Given the description of an element on the screen output the (x, y) to click on. 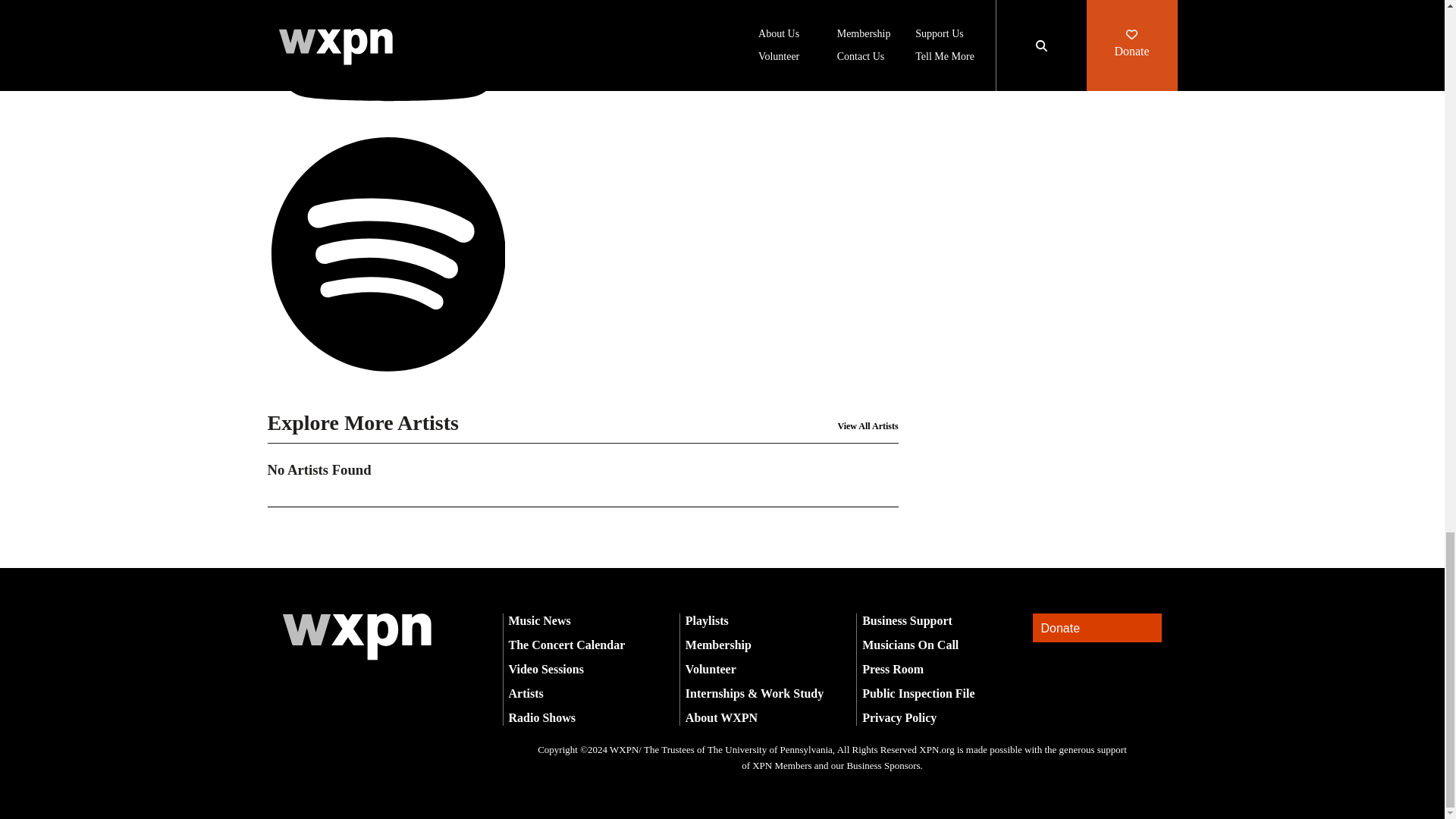
Membership (718, 644)
About WXPN (721, 717)
View All Artists (867, 425)
Donate (1096, 627)
Press Room (892, 668)
Artists (525, 693)
Volunteer (710, 668)
Public Inspection File (917, 693)
Business Support (906, 620)
Playlists (707, 620)
